Given the description of an element on the screen output the (x, y) to click on. 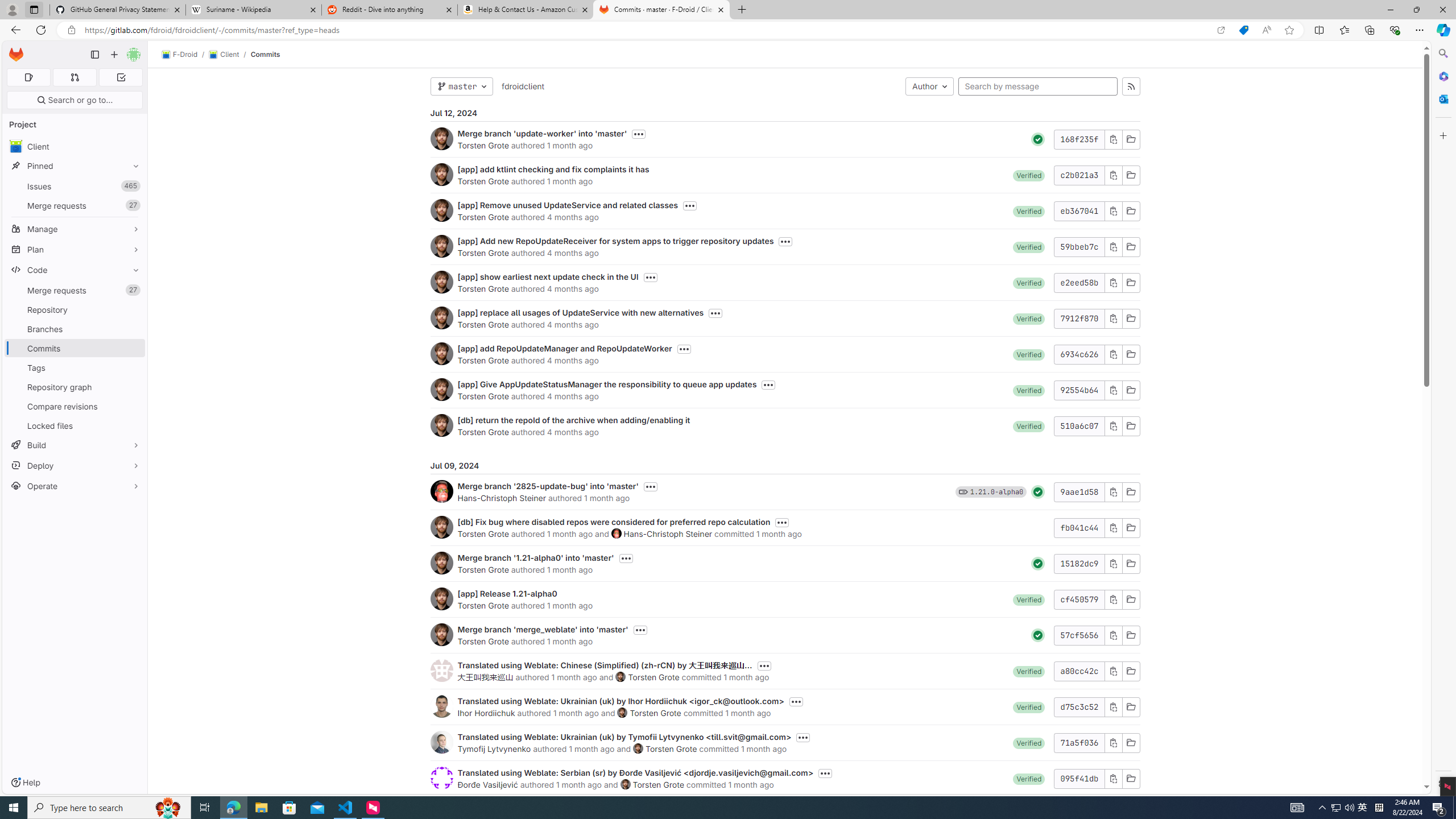
Collections (1369, 29)
Ihor Hordiichuk's avatar (440, 706)
Settings (1442, 783)
Unpin Merge requests (132, 290)
Search by message (1038, 85)
Merge requests27 (74, 289)
Pin Commits (132, 348)
Torsten Grote's avatar (625, 783)
Refresh (40, 29)
Merge requests 0 (74, 76)
